Given the description of an element on the screen output the (x, y) to click on. 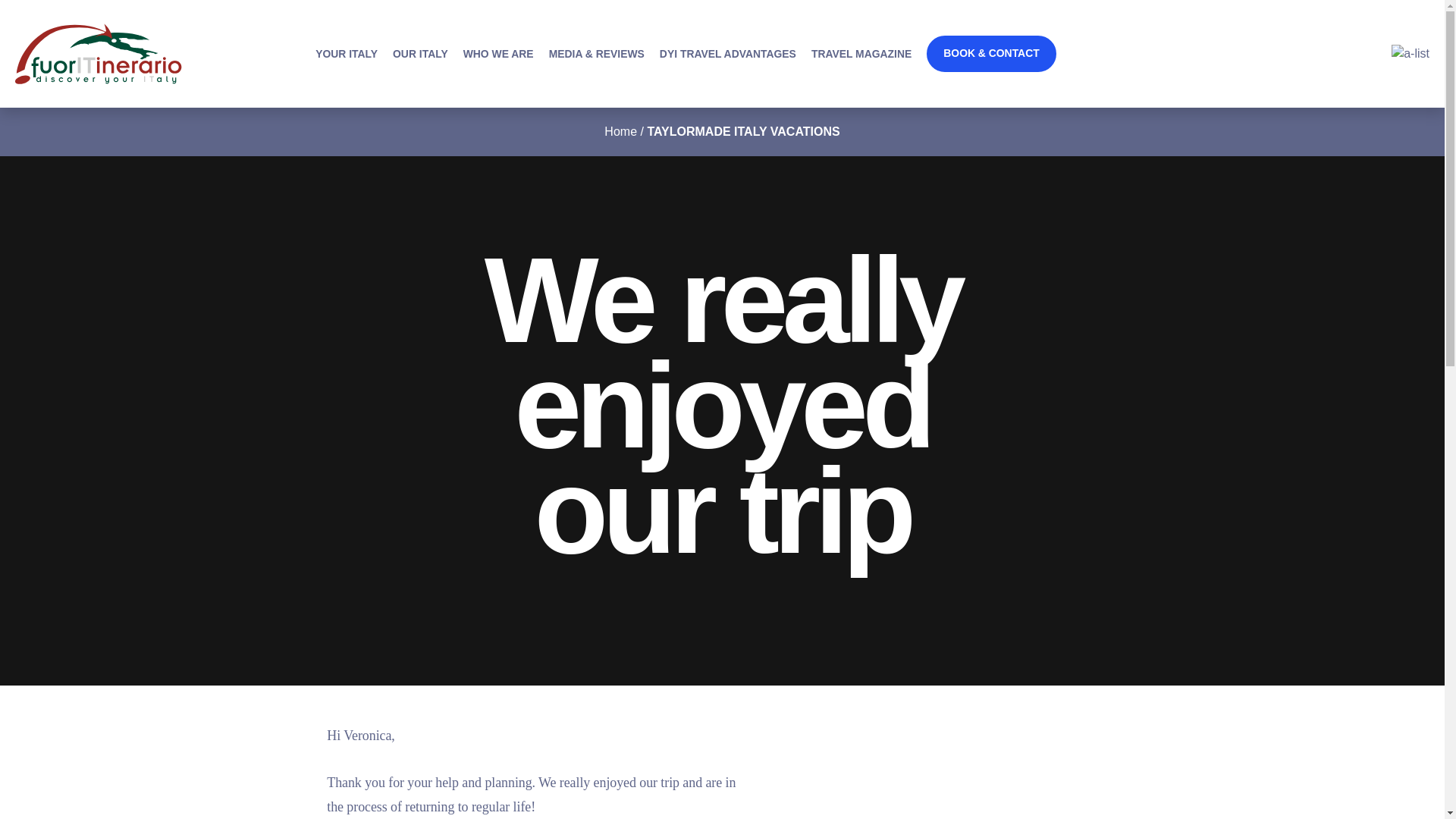
TRAVEL MAGAZINE (860, 53)
DYI TRAVEL ADVANTAGES (727, 53)
Home (620, 131)
OUR ITALY (420, 53)
WHO WE ARE (498, 53)
a-list (1410, 54)
YOUR ITALY (346, 53)
